Given the description of an element on the screen output the (x, y) to click on. 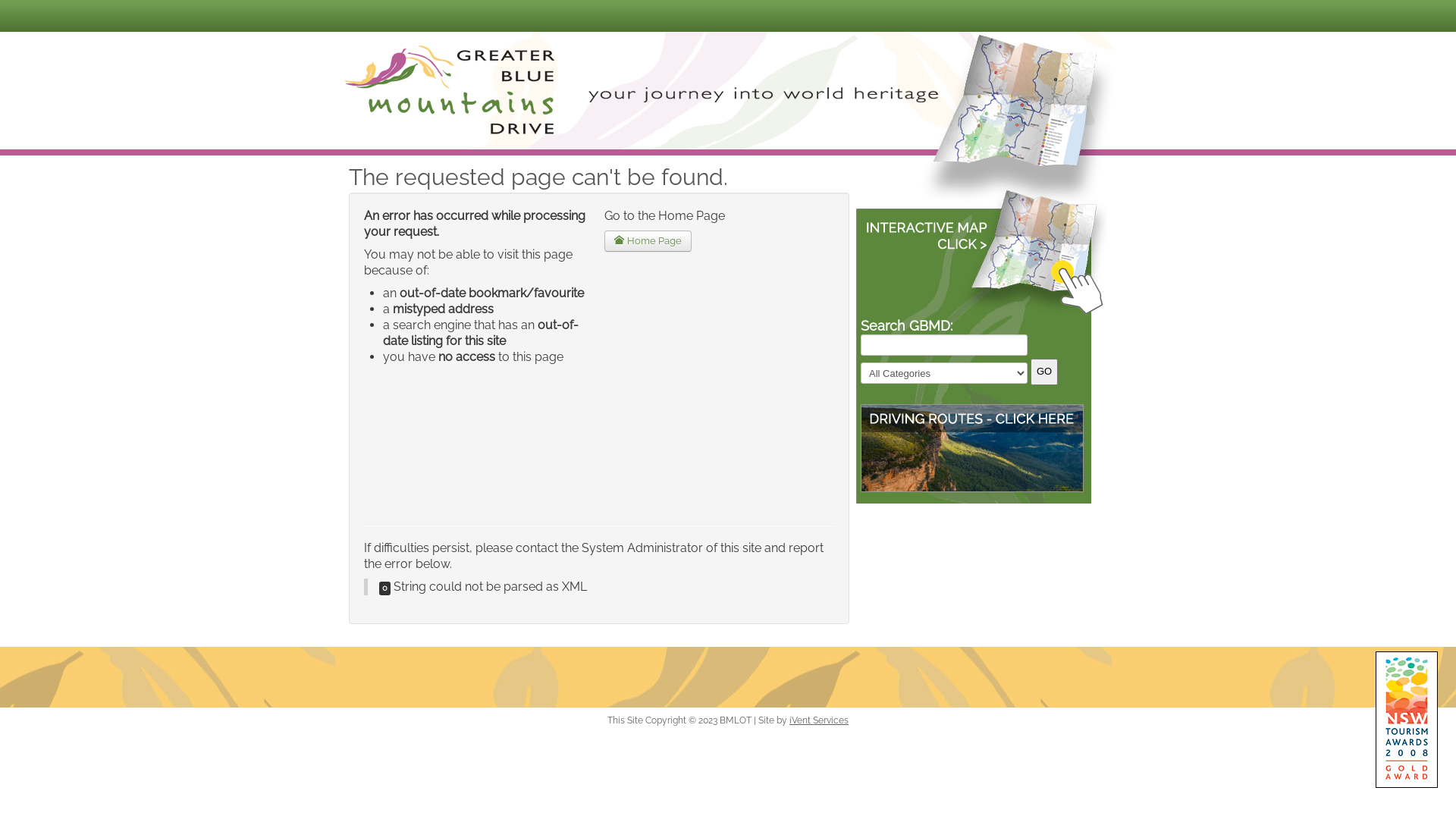
  Element type: text (976, 251)
All Discovery Trails Element type: hover (971, 446)
  Element type: text (451, 87)
Home Page Element type: text (647, 240)
  Element type: text (1021, 126)
Greater Blue Mountains Drive - Home Element type: hover (451, 87)
GO Element type: text (1043, 370)
iVent Services Element type: text (818, 720)
